Given the description of an element on the screen output the (x, y) to click on. 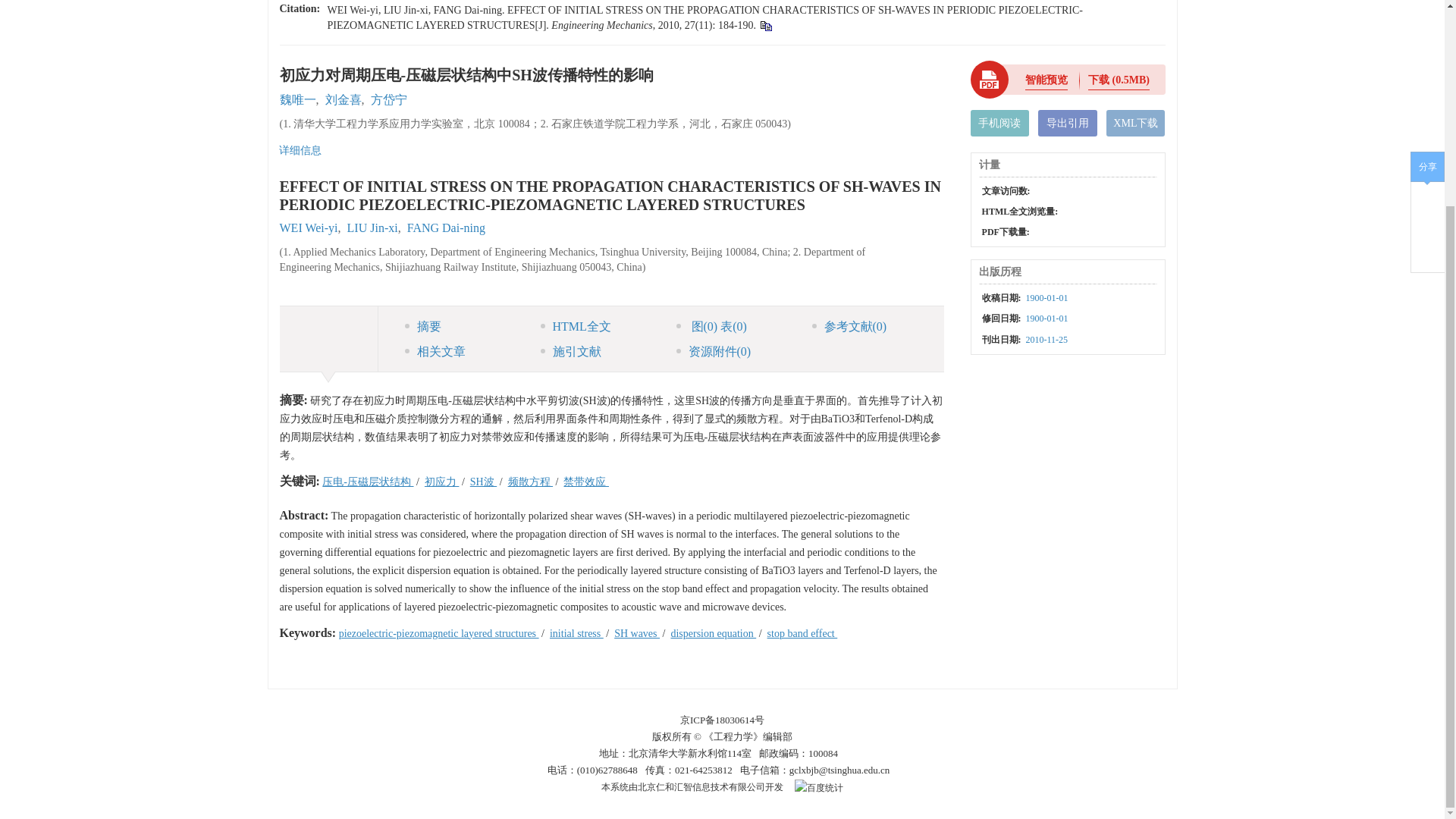
copy to clipboard (764, 25)
